Given the description of an element on the screen output the (x, y) to click on. 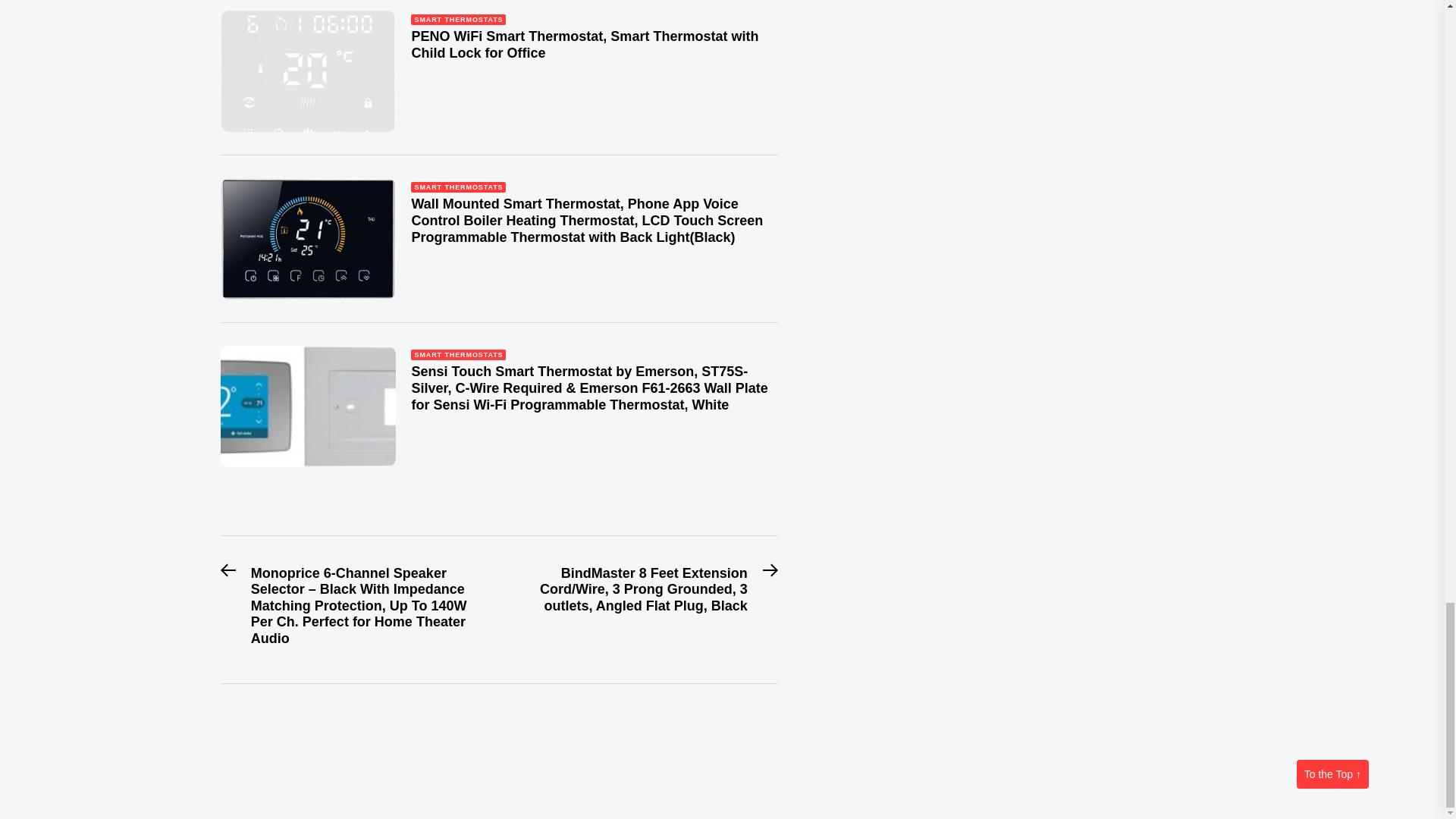
SMART THERMOSTATS (457, 187)
SMART THERMOSTATS (457, 19)
SMART THERMOSTATS (457, 355)
